Given the description of an element on the screen output the (x, y) to click on. 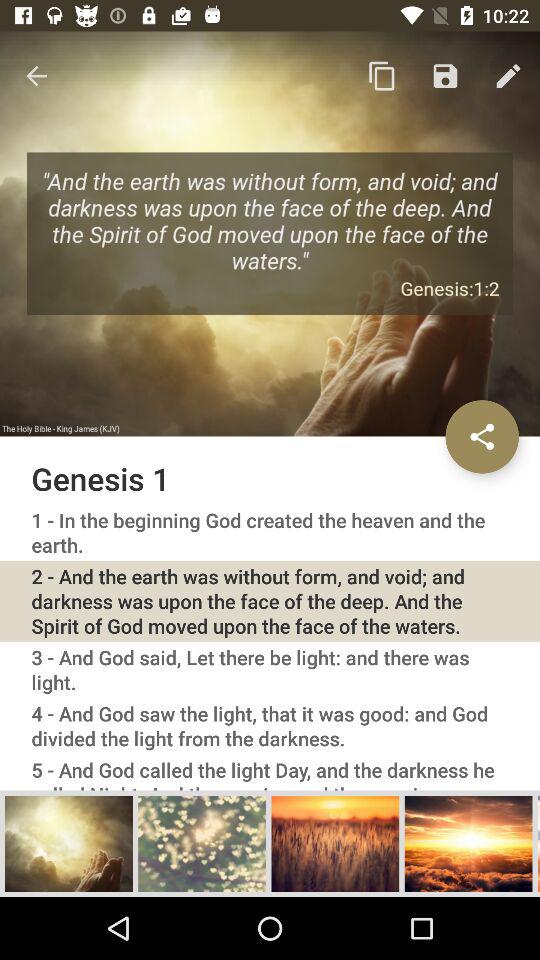
selects the photo (468, 843)
